Given the description of an element on the screen output the (x, y) to click on. 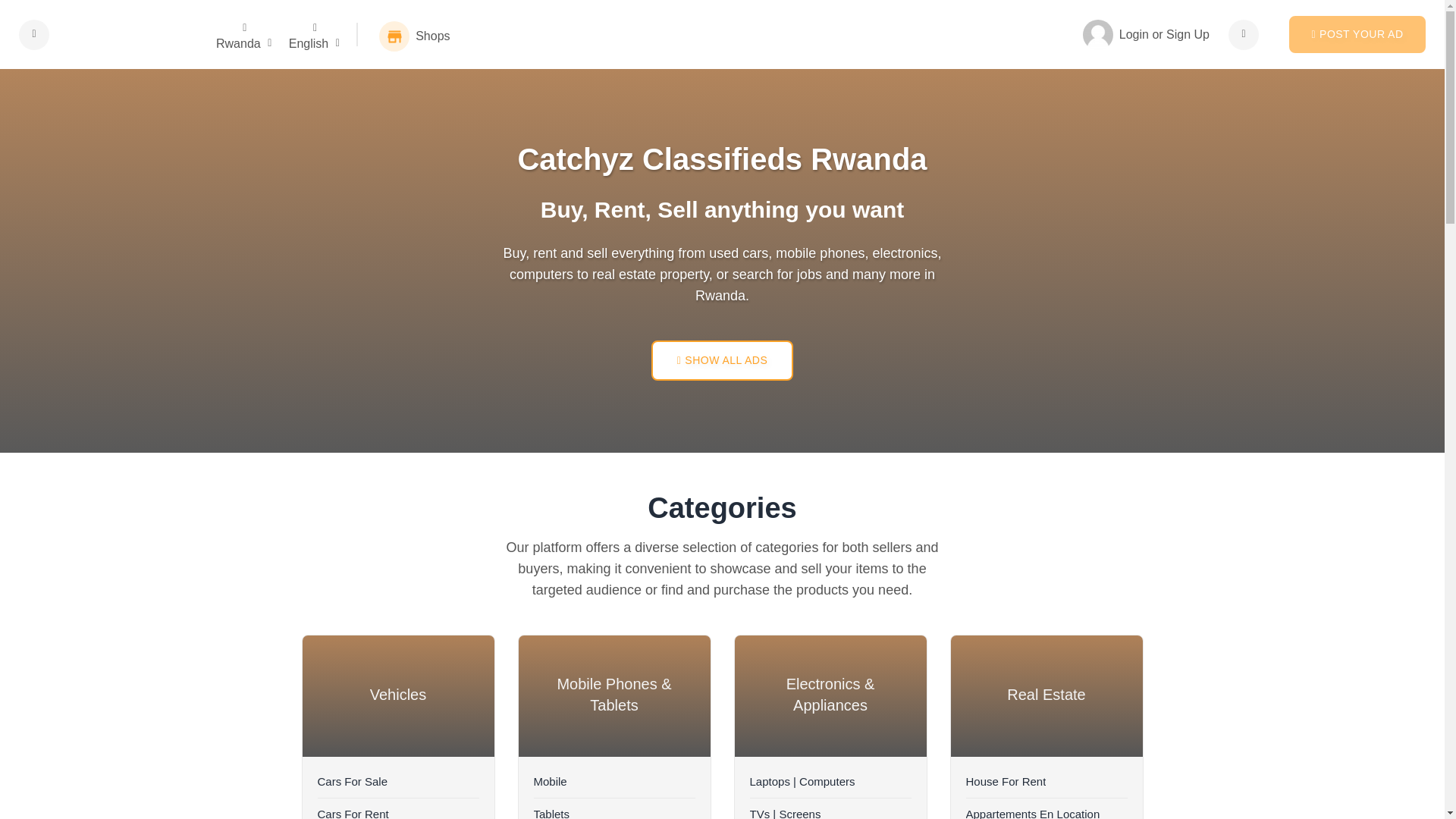
SHOW ALL ADS (721, 360)
POST YOUR AD (1356, 34)
Cars For Rent (398, 808)
Mobile (614, 781)
Login or Sign Up (1146, 34)
Cars For Sale (398, 781)
Real Estate (1046, 695)
Vehicles (397, 695)
House For Rent (1046, 781)
Tablets (614, 808)
Shops (410, 36)
Appartements En Location (1046, 808)
